Given the description of an element on the screen output the (x, y) to click on. 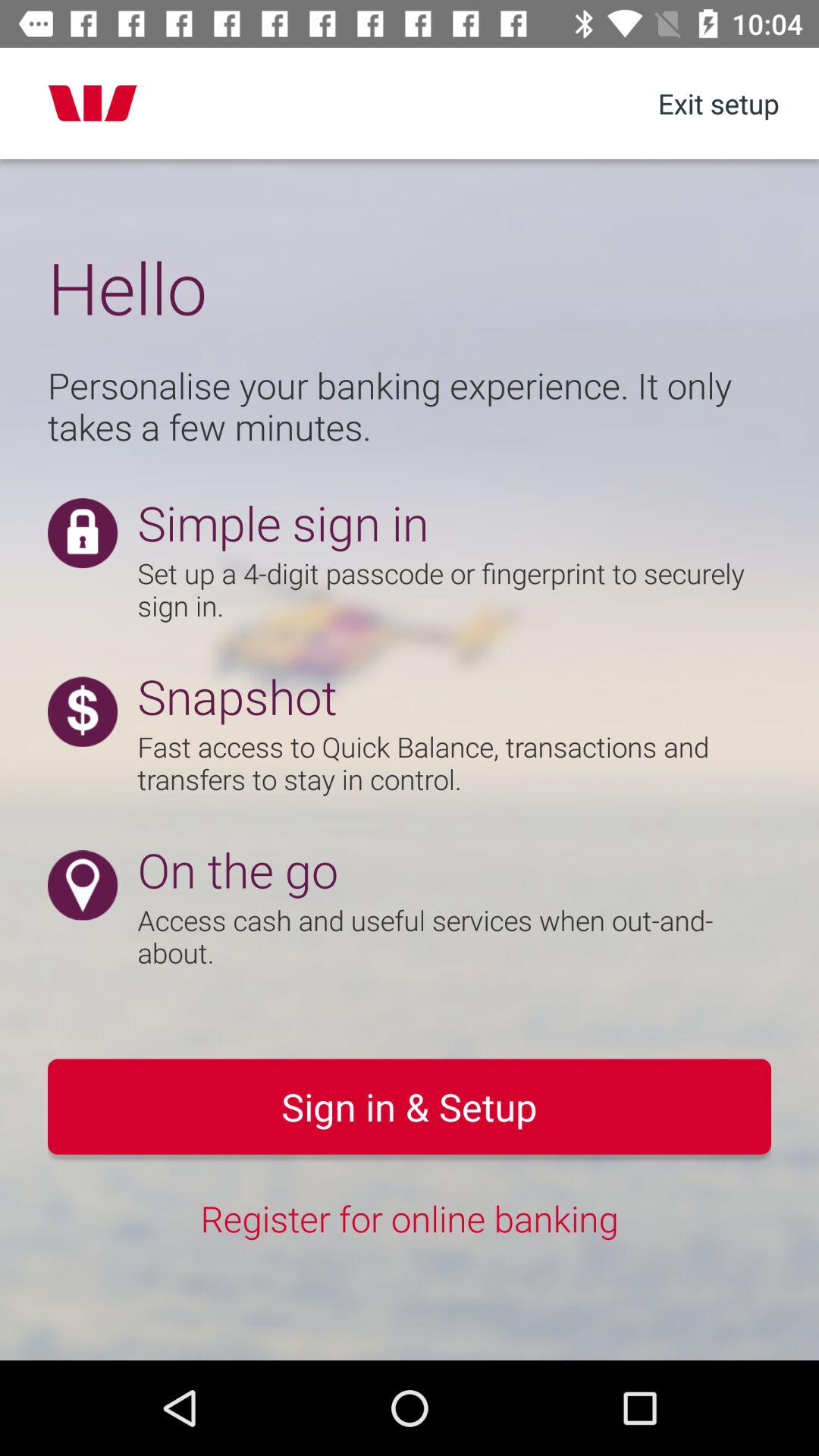
scroll to the exit setup (718, 103)
